Given the description of an element on the screen output the (x, y) to click on. 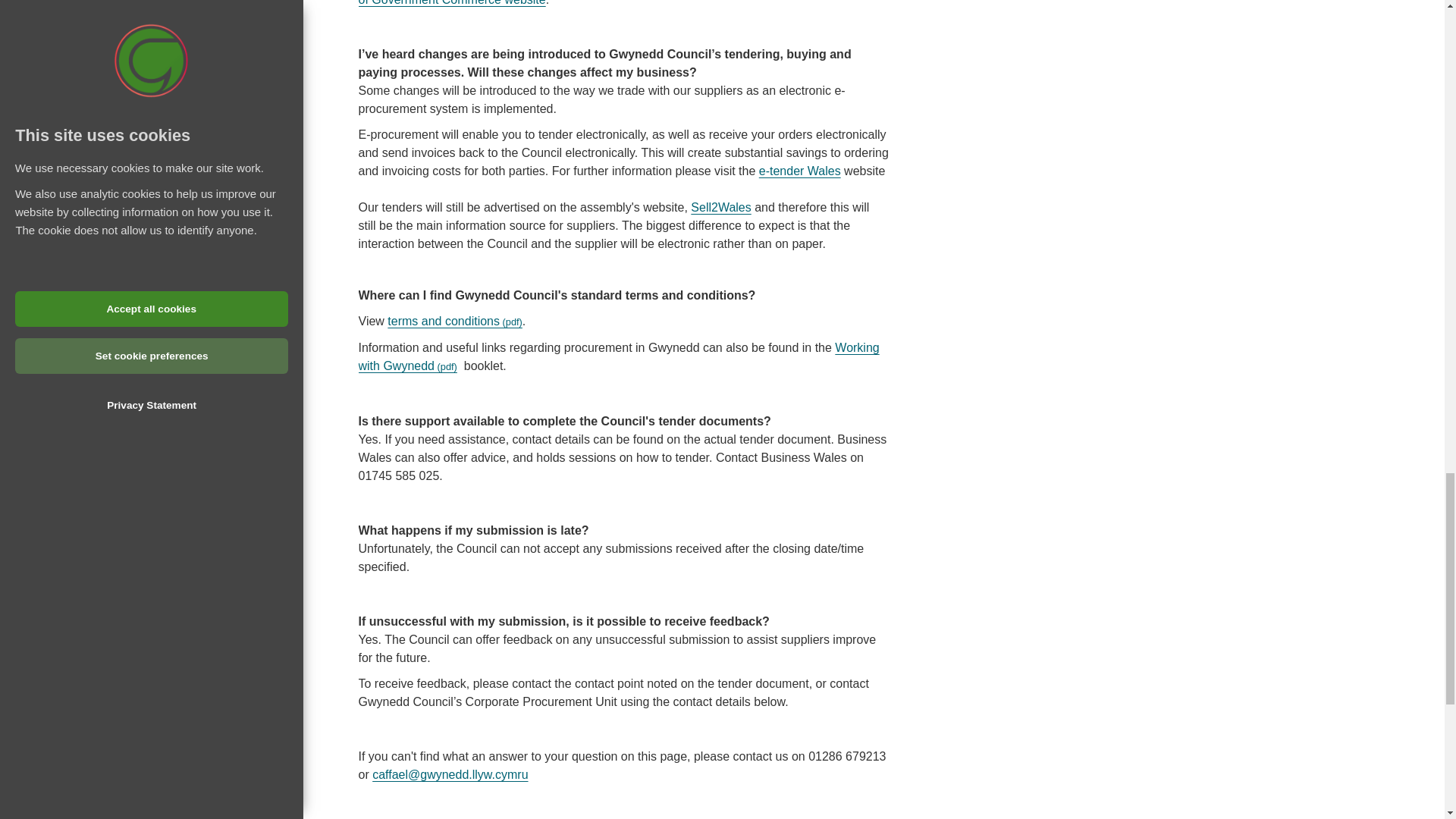
Exchangewales (799, 170)
Working with Gwynedd (618, 356)
e-tender Wales (799, 170)
Terms-and-conditions (454, 320)
Sell2Wales (720, 206)
Sell2Wales (720, 206)
terms and conditions (454, 320)
WorkingwithGwynedd12 (618, 356)
